Given the description of an element on the screen output the (x, y) to click on. 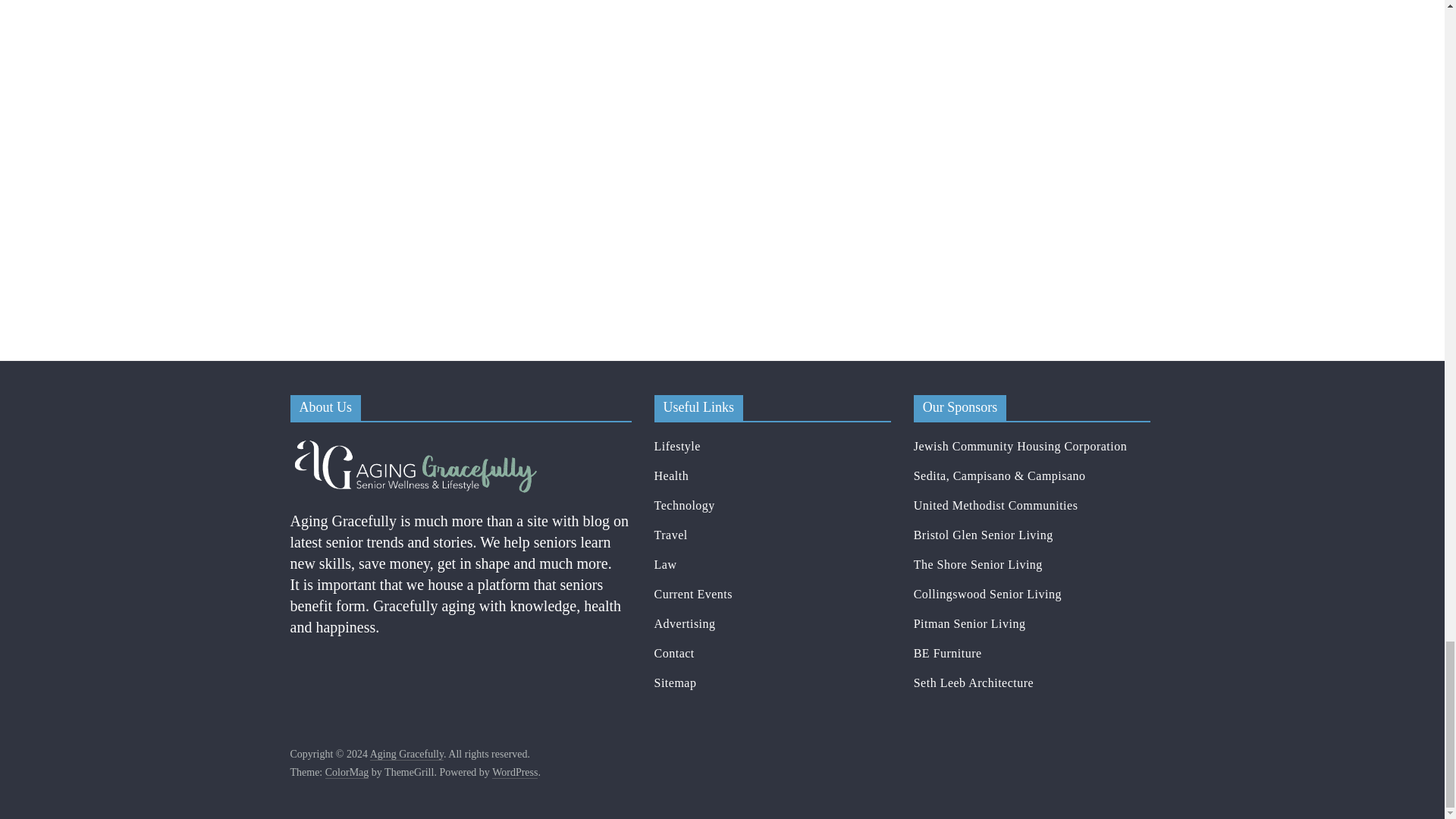
Aging Gracefully (406, 754)
Aging Gracefully (414, 443)
WordPress (514, 772)
ColorMag (346, 772)
